Given the description of an element on the screen output the (x, y) to click on. 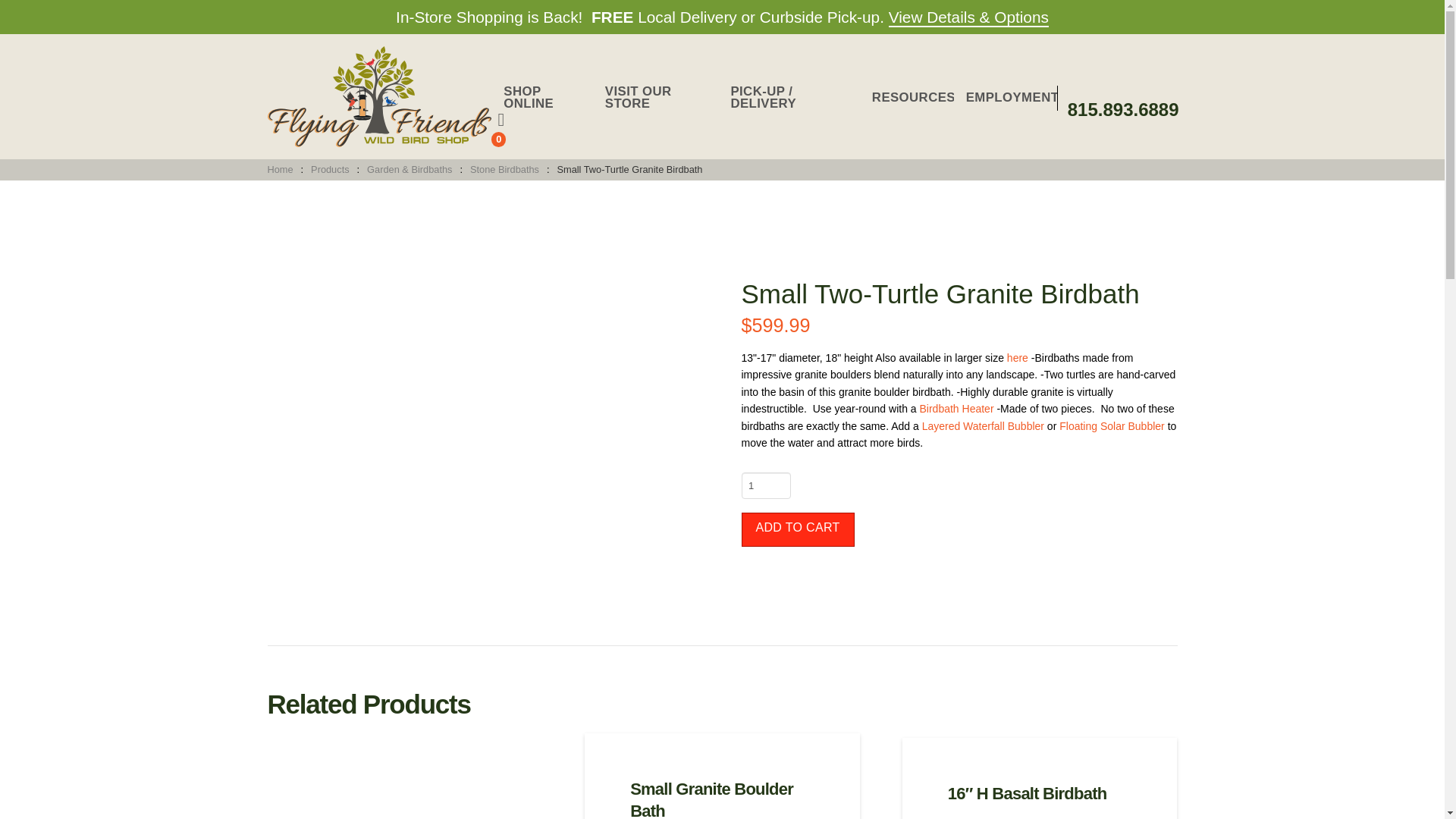
Stone Birdbaths (504, 169)
Birdbath Heater (955, 408)
Floating Solar Bubbler (1111, 426)
Small Granite Boulder Bath (711, 799)
815.893.6889 (1123, 109)
here (1017, 357)
VISIT OUR STORE (655, 98)
ADD TO CART (797, 529)
Home (280, 169)
SHOP ONLINE (542, 98)
Layered Waterfall Bubbler (982, 426)
Products (329, 169)
EMPLOYMENT (1005, 98)
1 (765, 484)
RESOURCES (906, 98)
